Given the description of an element on the screen output the (x, y) to click on. 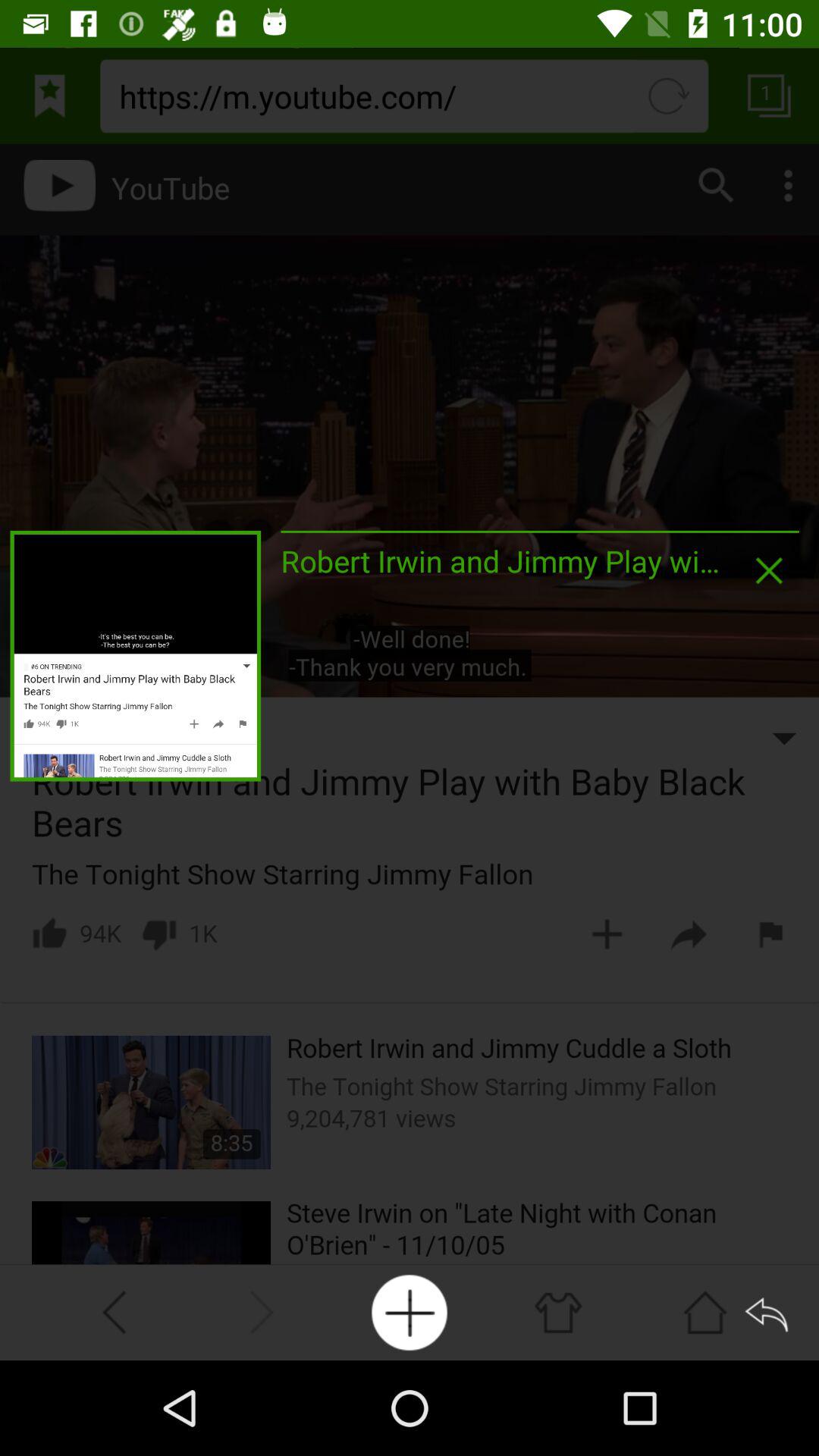
back button (769, 1312)
